Given the description of an element on the screen output the (x, y) to click on. 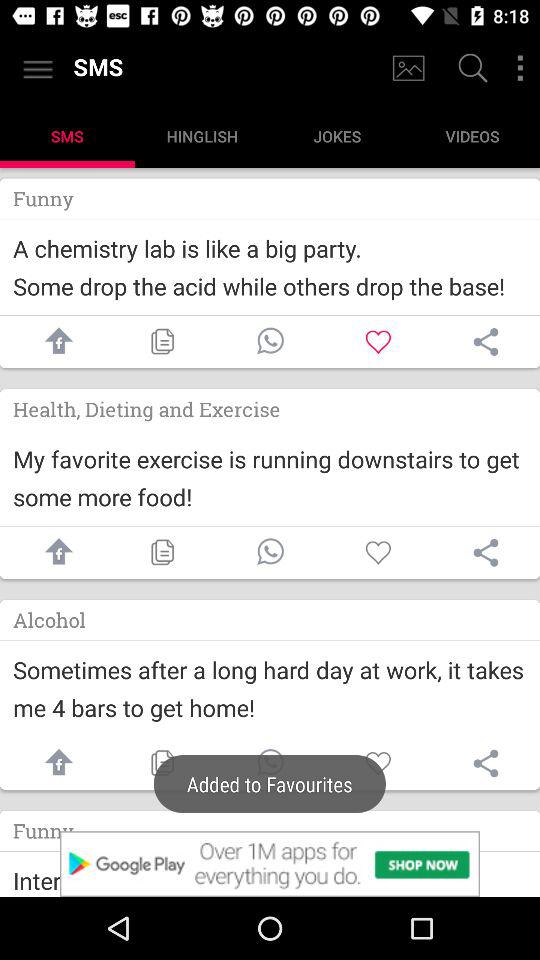
advertisement (270, 864)
